Given the description of an element on the screen output the (x, y) to click on. 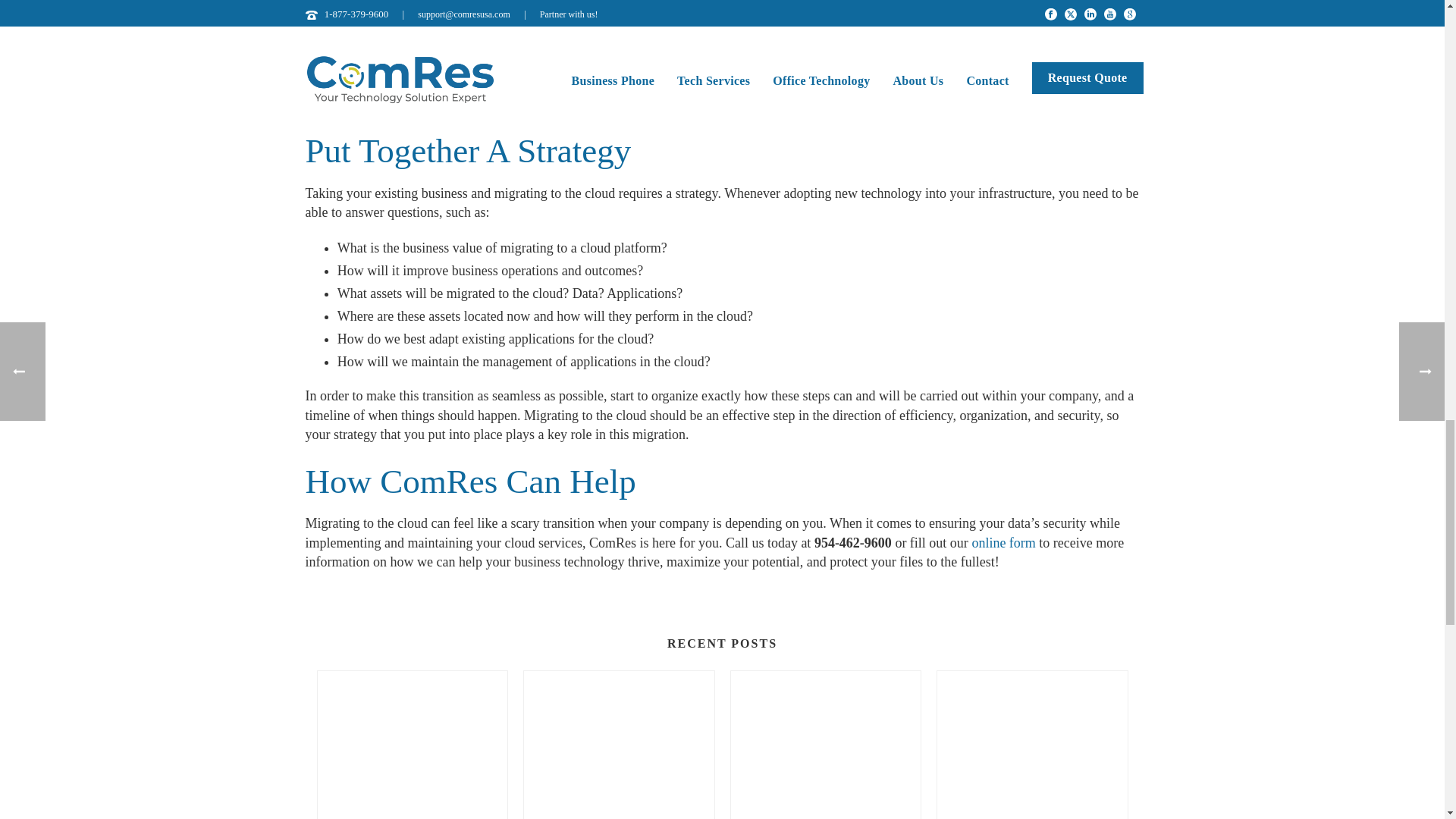
online form (1003, 542)
The Power of Proactive Monitoring (619, 744)
954-462-9600 (852, 542)
